Given the description of an element on the screen output the (x, y) to click on. 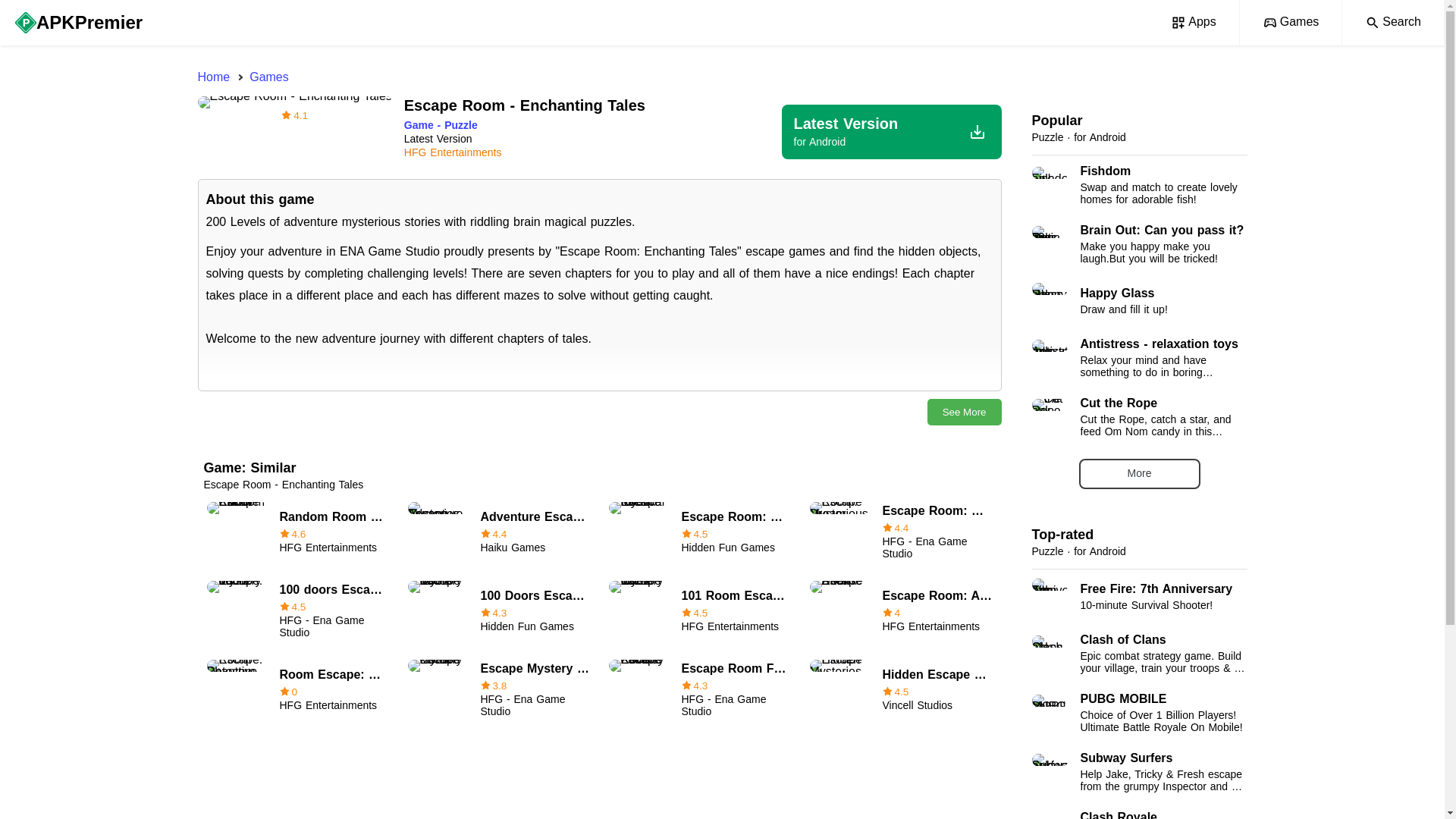
More (1138, 473)
Escape Room: Mysterious Dream (900, 532)
Happy Glass APK (1138, 300)
Home (213, 77)
Escape Room: After Demise (1138, 596)
100 doors Escape: Mystery Land (900, 610)
